Given the description of an element on the screen output the (x, y) to click on. 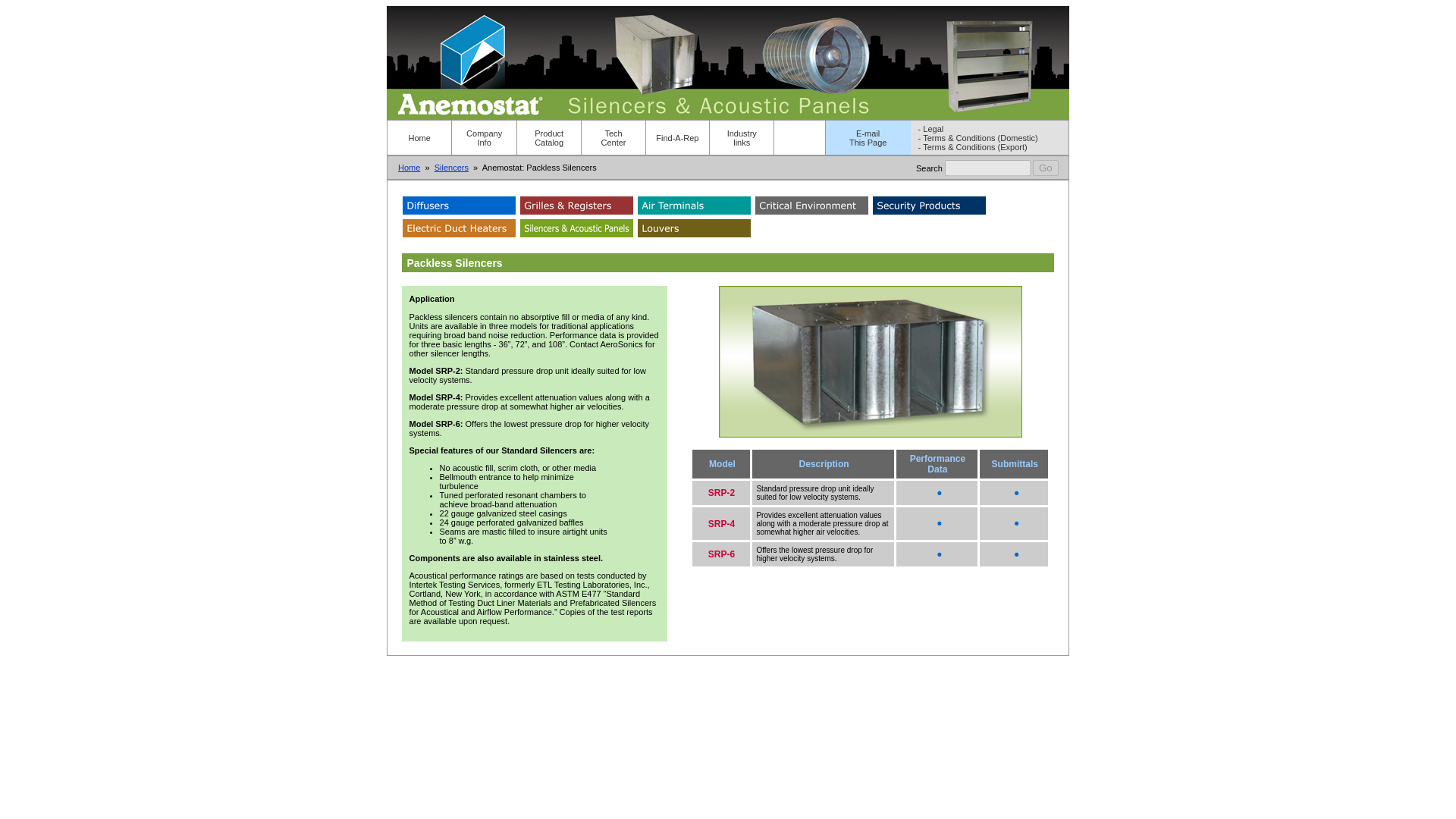
Go (612, 137)
Go (1045, 166)
- Legal (1045, 166)
Send your friends e-mail about this page (930, 128)
Find-A-Rep (867, 137)
